Given the description of an element on the screen output the (x, y) to click on. 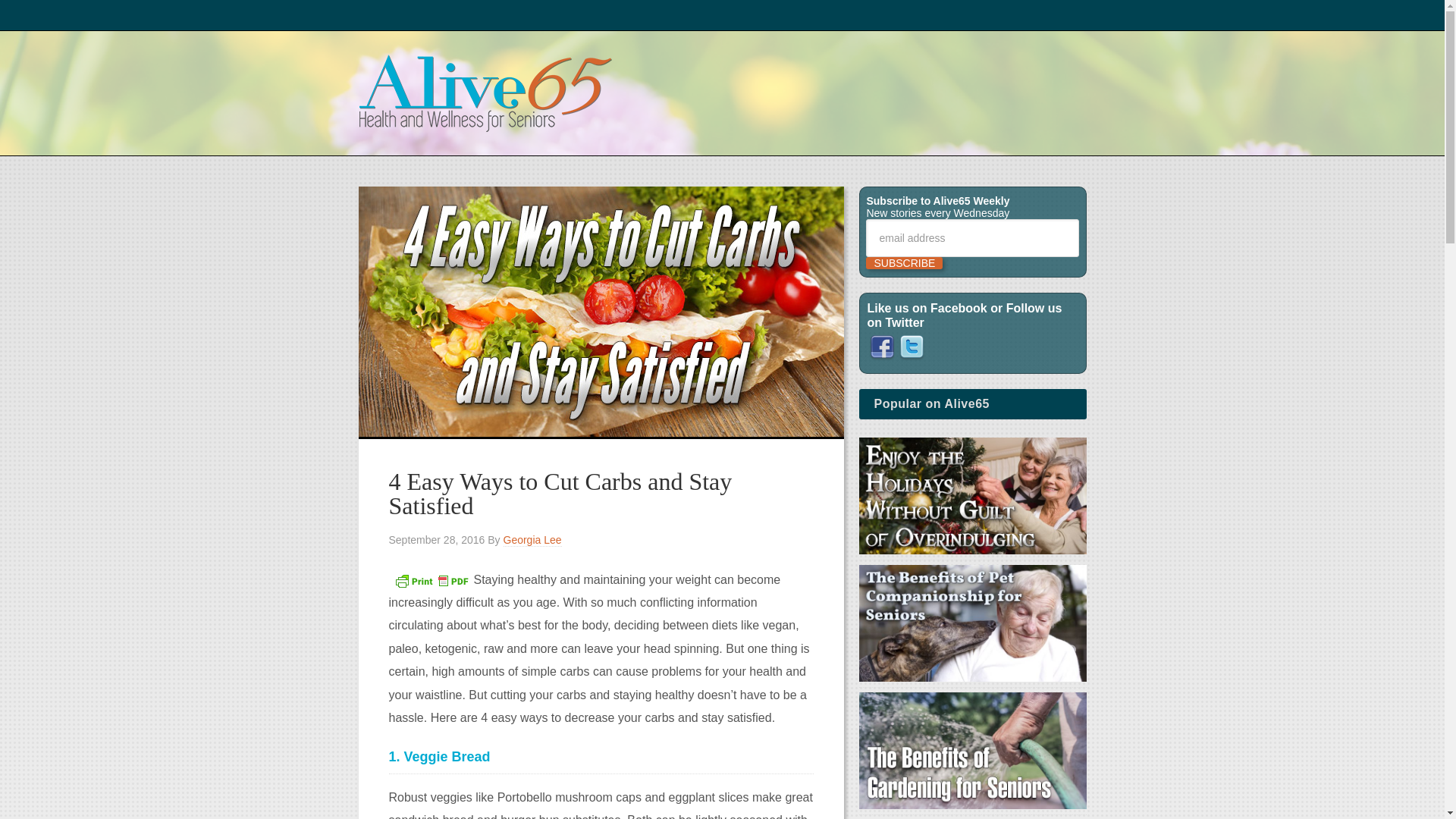
Enjoy the Holidays without the Guilt of Overindulging (972, 498)
Twitter (911, 347)
ALIVE65 (722, 93)
Subscribe (904, 263)
Georgia Lee (532, 540)
Twitter (911, 358)
Facebook (882, 347)
Facebook (881, 358)
Subscribe (904, 263)
